Given the description of an element on the screen output the (x, y) to click on. 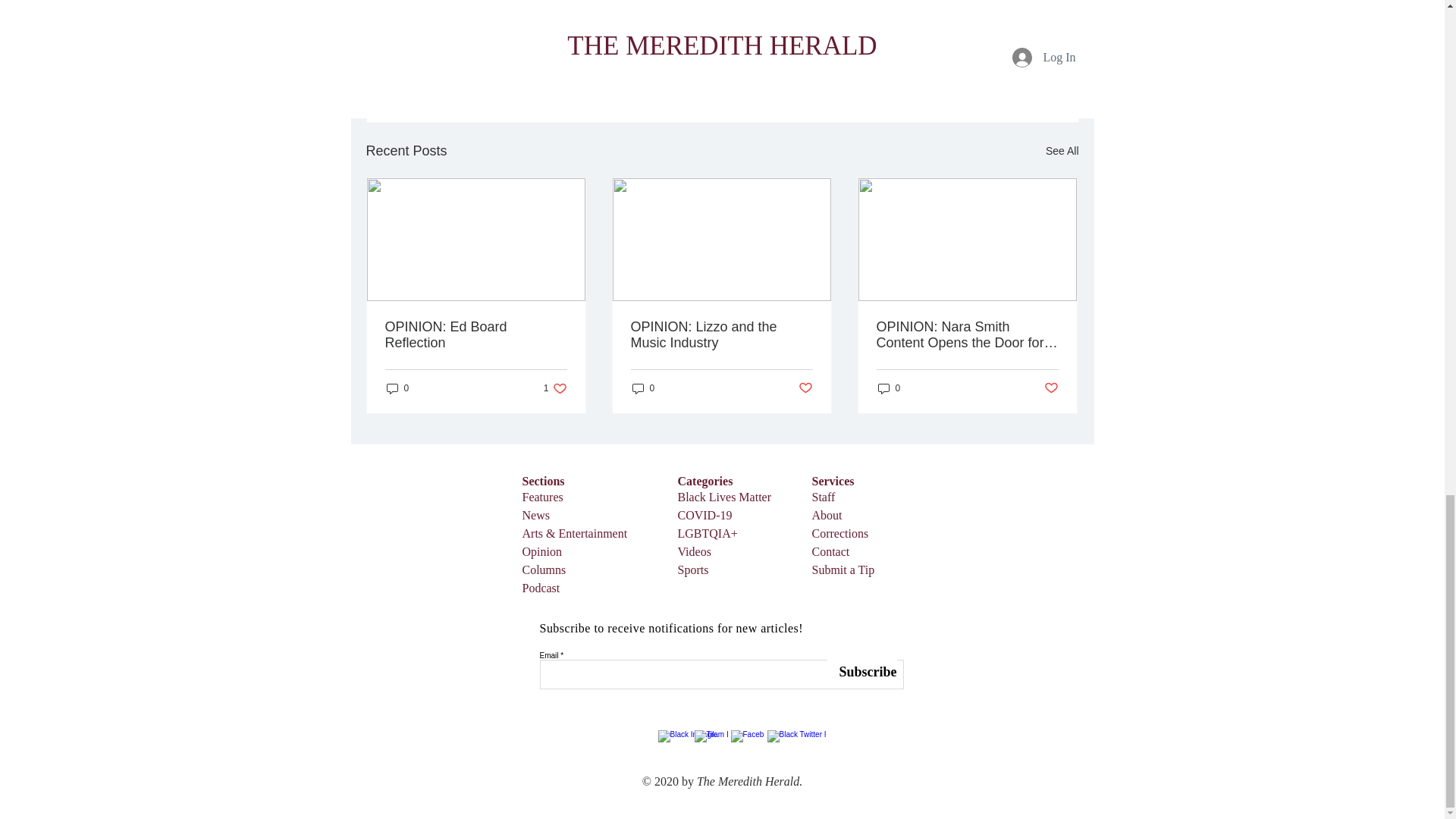
Post not marked as liked (804, 387)
Post not marked as liked (995, 68)
Black Lives Matter (724, 496)
Columns (543, 569)
Podcast (540, 587)
0 (889, 388)
News (534, 514)
Features (541, 496)
See All (1061, 151)
